Given the description of an element on the screen output the (x, y) to click on. 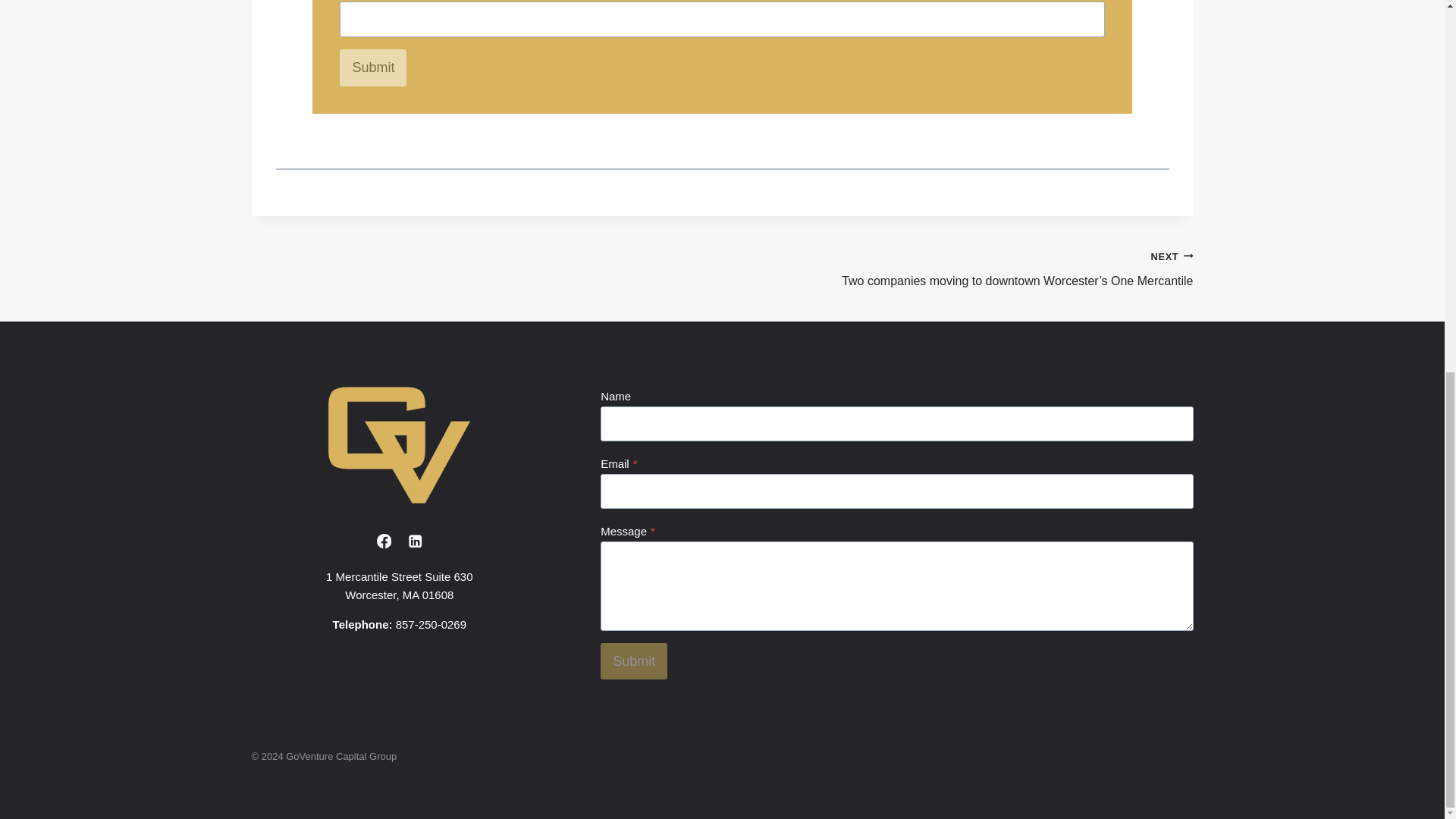
Submit (632, 660)
Submit (372, 67)
